Given the description of an element on the screen output the (x, y) to click on. 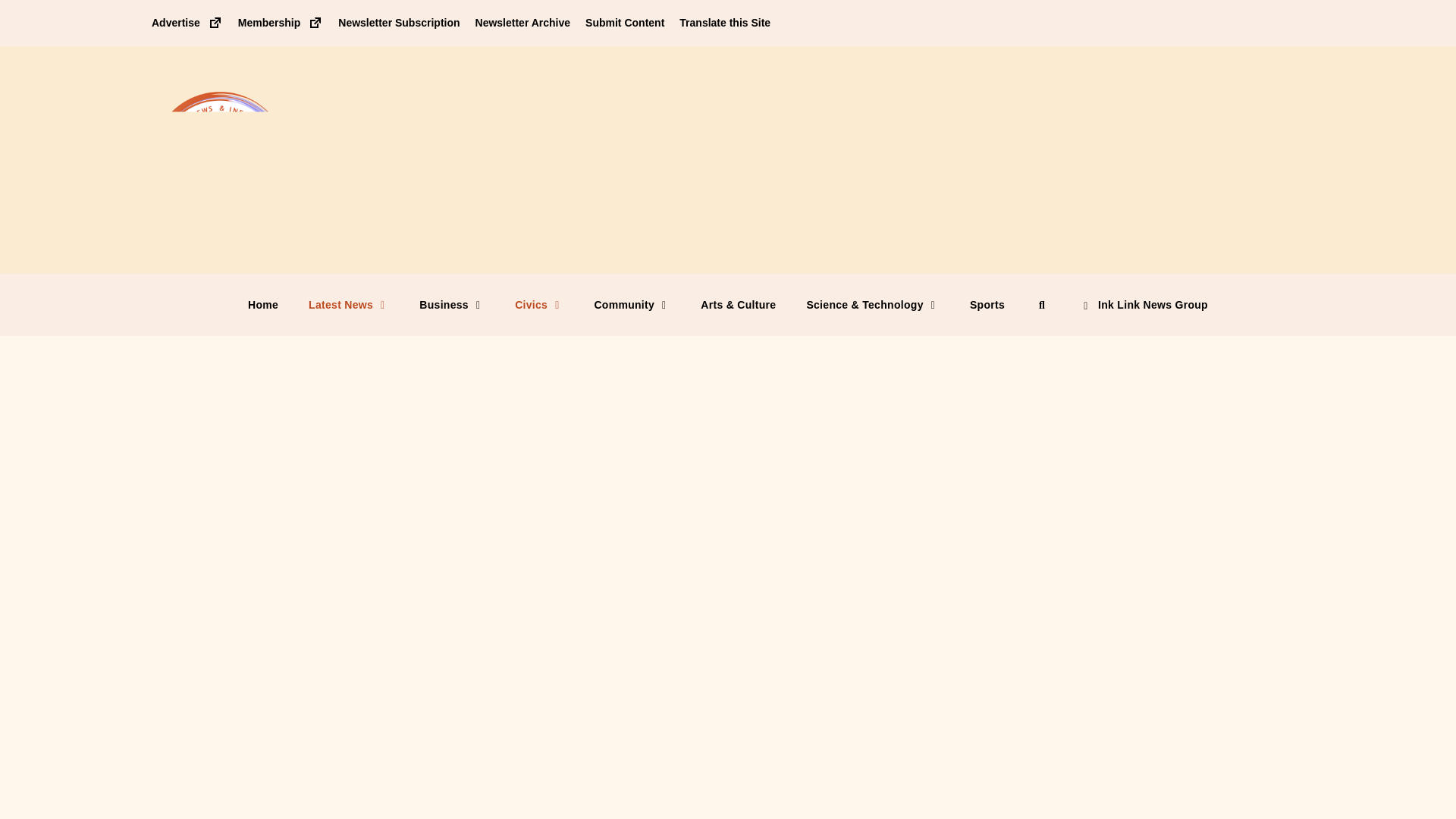
Membership (280, 22)
Latest News (349, 304)
Advertise (186, 22)
Ink Link News Group (1143, 304)
Community (631, 304)
Newsletter Archive (523, 22)
Sports (987, 304)
Translate this Site (724, 22)
Business (451, 304)
Submit Content (624, 22)
